Given the description of an element on the screen output the (x, y) to click on. 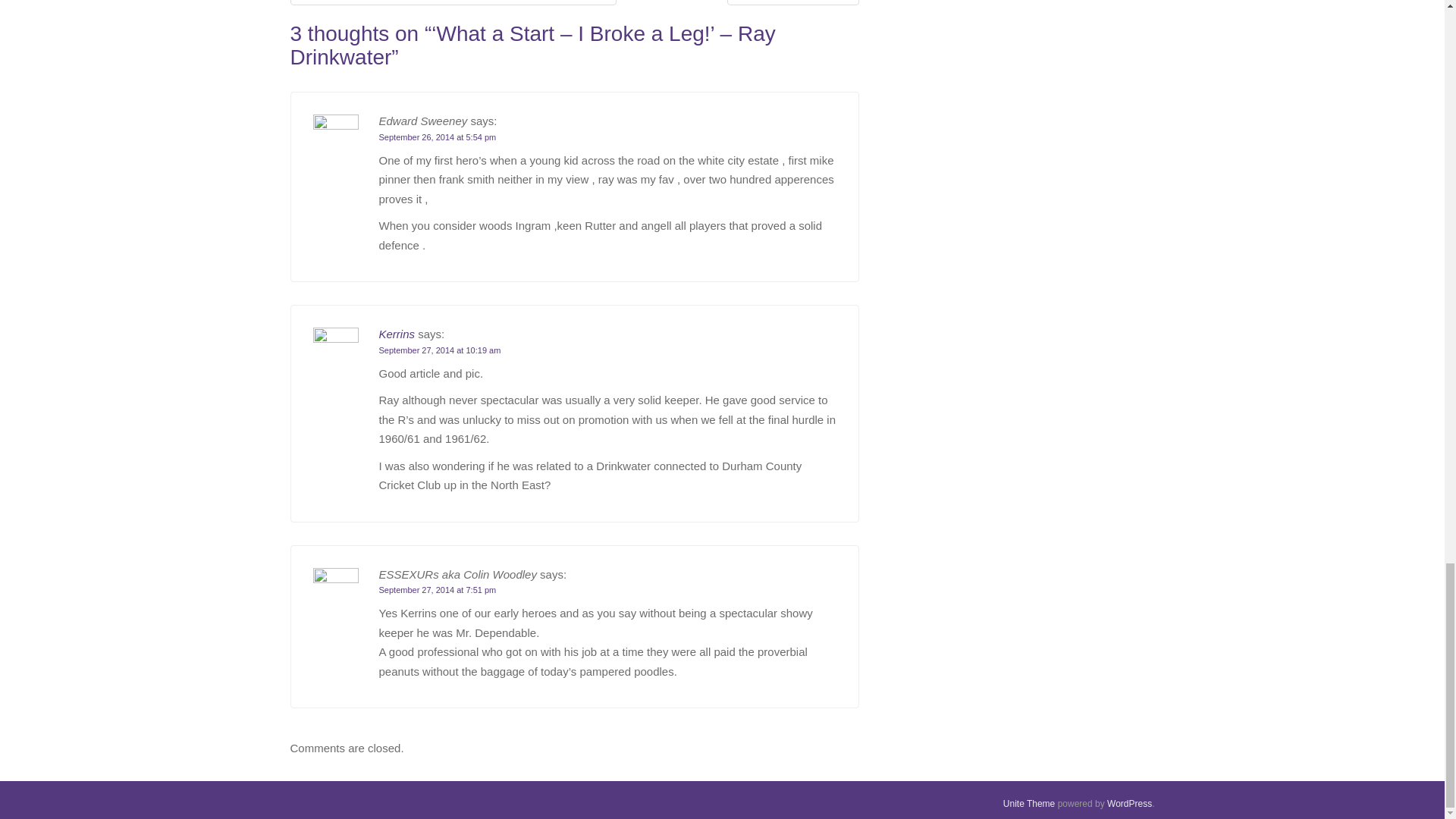
Kerrins (396, 333)
September 27, 2014 at 7:51 pm (437, 589)
Unite Theme (1028, 803)
Southampton v QPR (792, 2)
September 27, 2014 at 10:19 am (439, 349)
September 26, 2014 at 5:54 pm (437, 136)
